Given the description of an element on the screen output the (x, y) to click on. 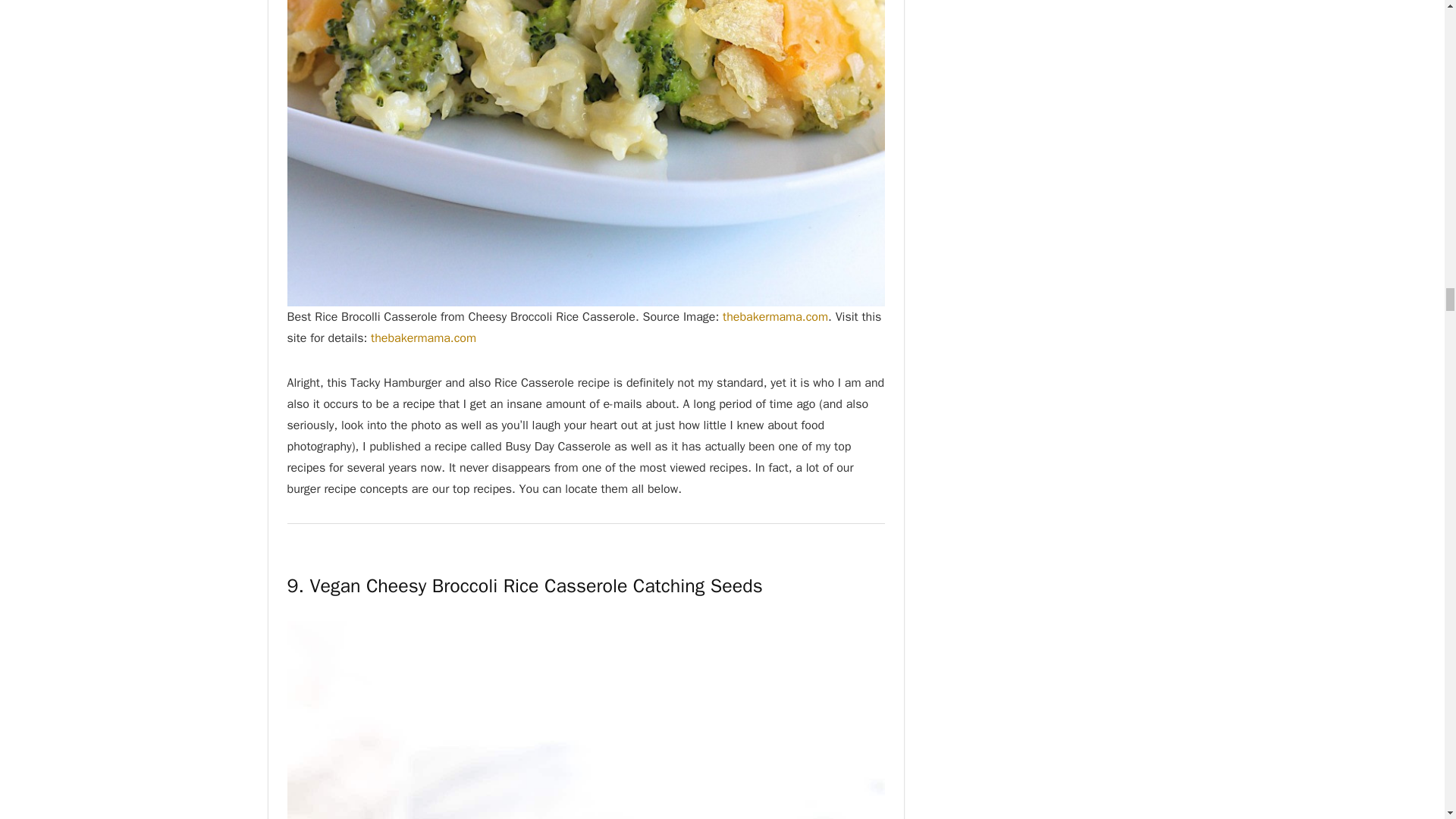
thebakermama.com (423, 337)
thebakermama.com (775, 316)
cheesy broccoli rice casserole (584, 719)
